Given the description of an element on the screen output the (x, y) to click on. 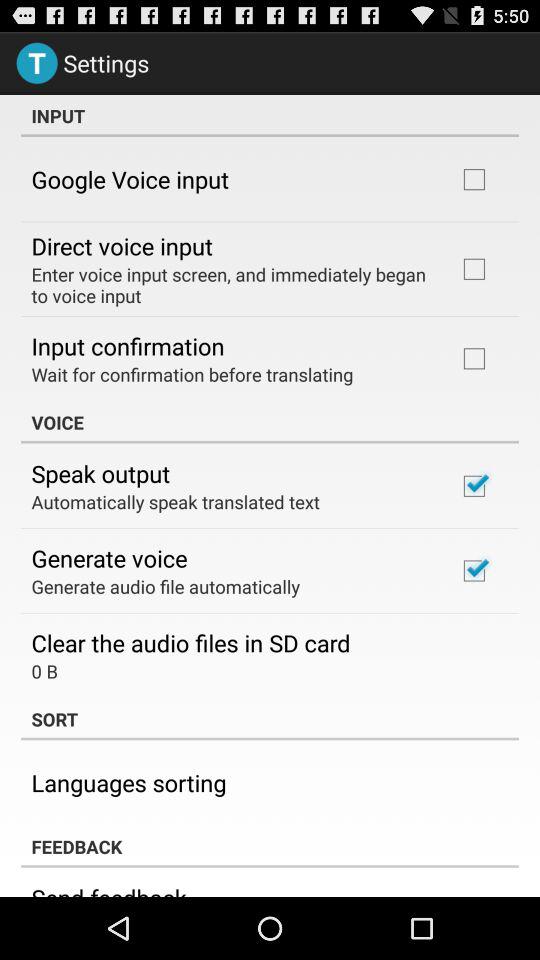
turn off the icon below generate voice icon (165, 586)
